Given the description of an element on the screen output the (x, y) to click on. 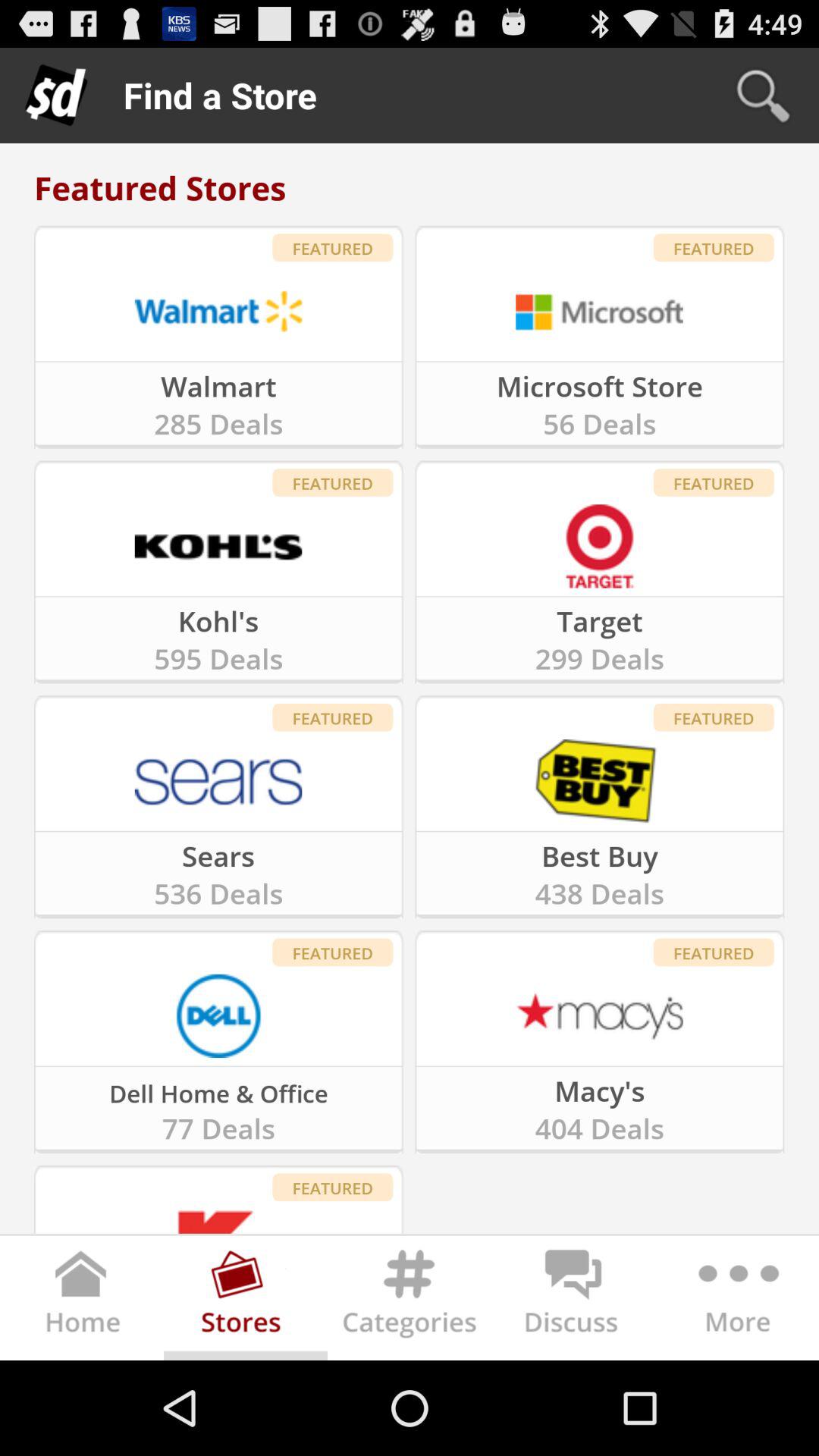
go home (81, 1301)
